Given the description of an element on the screen output the (x, y) to click on. 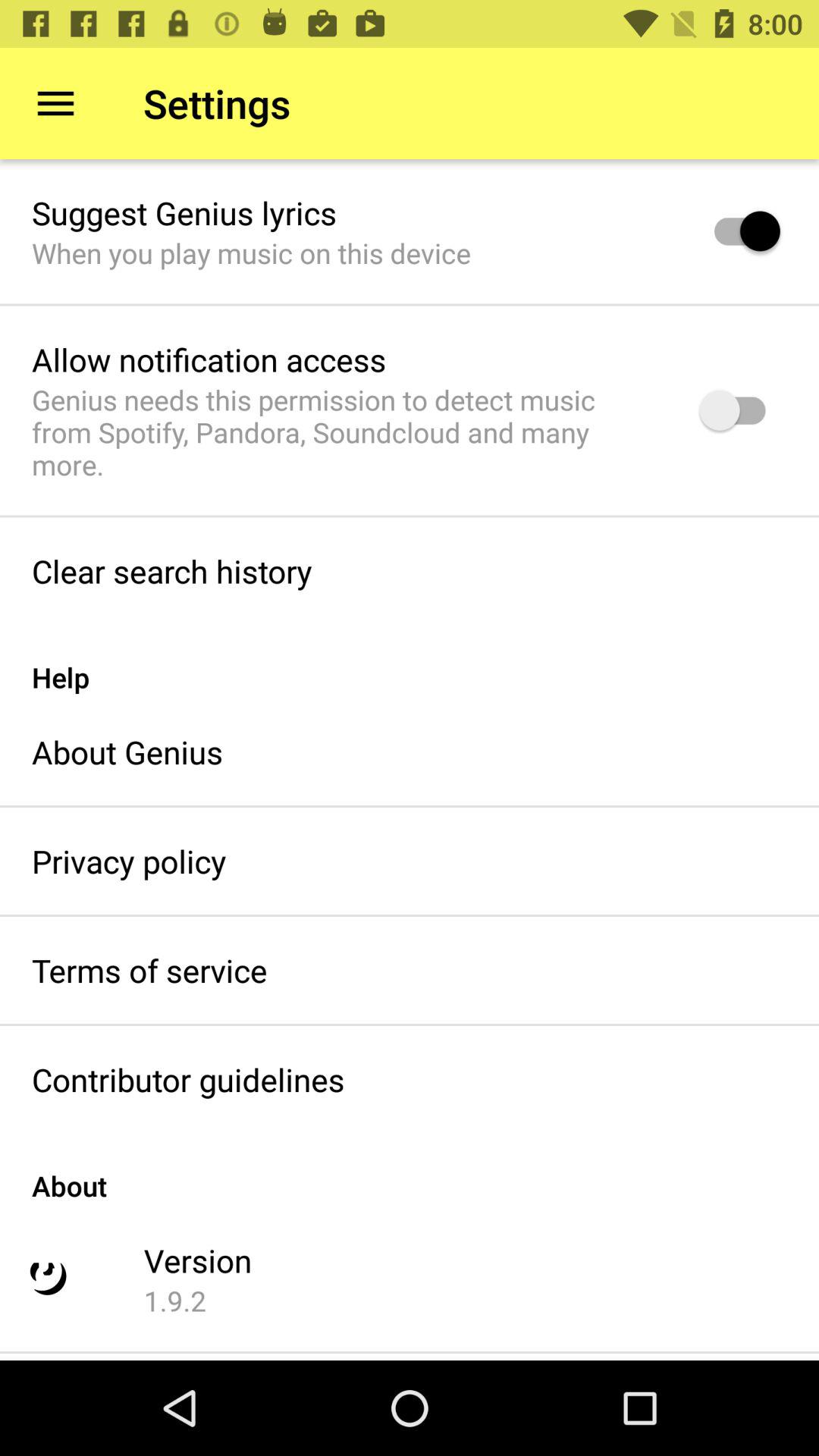
flip to the allow notification access icon (208, 359)
